Given the description of an element on the screen output the (x, y) to click on. 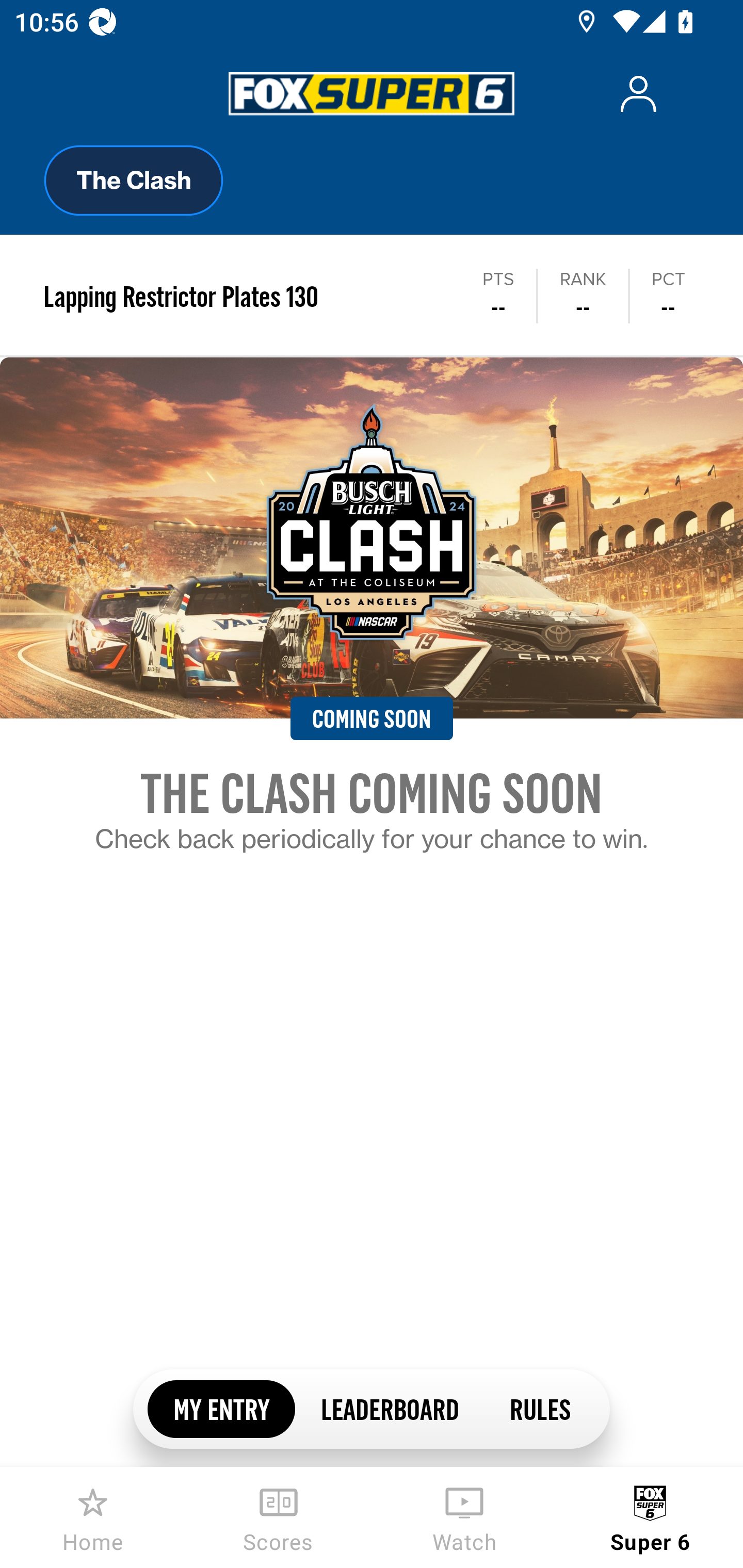
LEADERBOARD (388, 1408)
RULES (539, 1408)
Home (92, 1517)
Scores (278, 1517)
Watch (464, 1517)
